Given the description of an element on the screen output the (x, y) to click on. 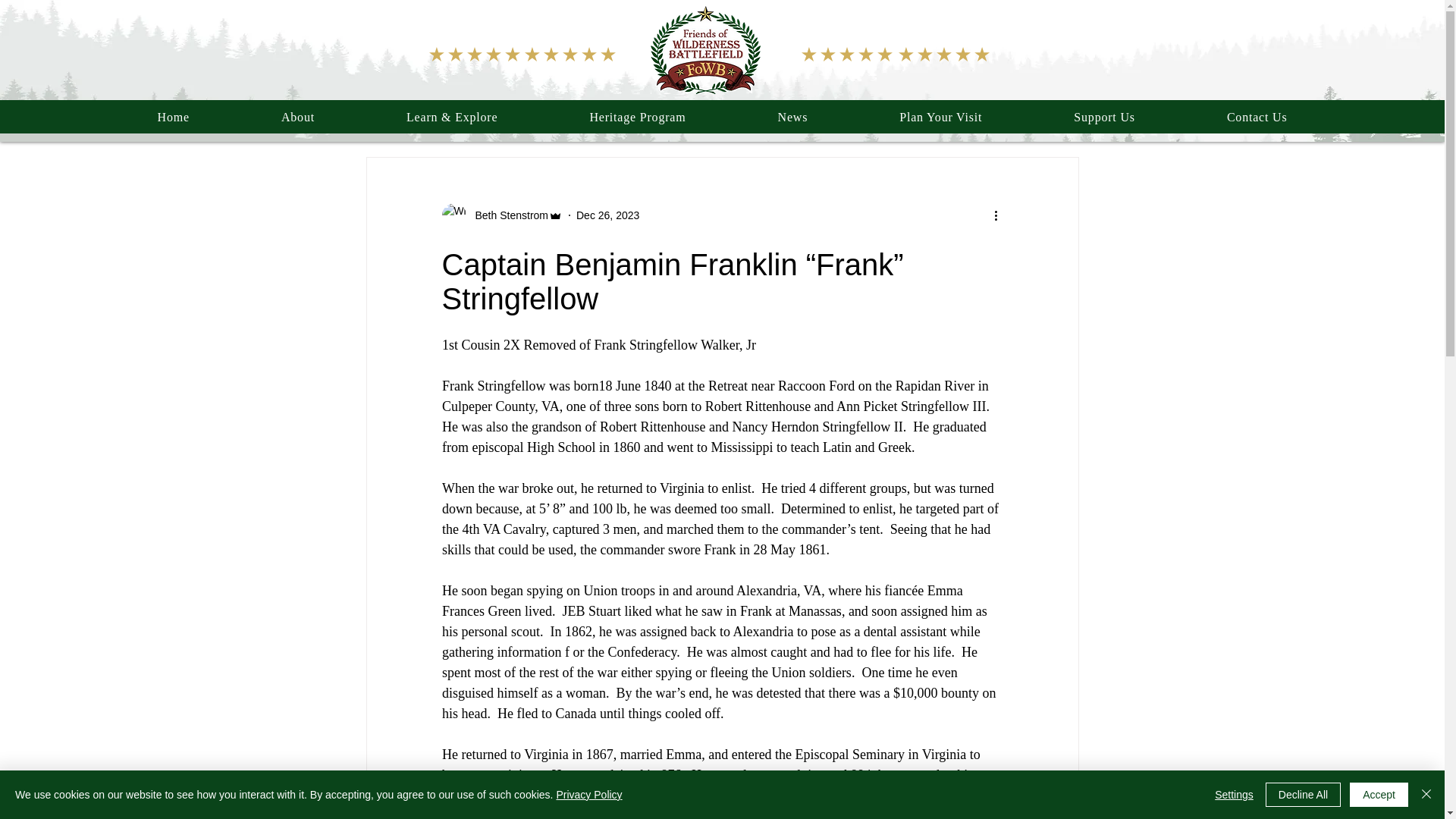
Beth Stenstrom (506, 215)
Accessibility Menu (21, 796)
Plan Your Visit (941, 117)
Heritage Program (638, 117)
Contact Us (1256, 117)
Dec 26, 2023 (607, 215)
News (792, 117)
Home (173, 117)
